Given the description of an element on the screen output the (x, y) to click on. 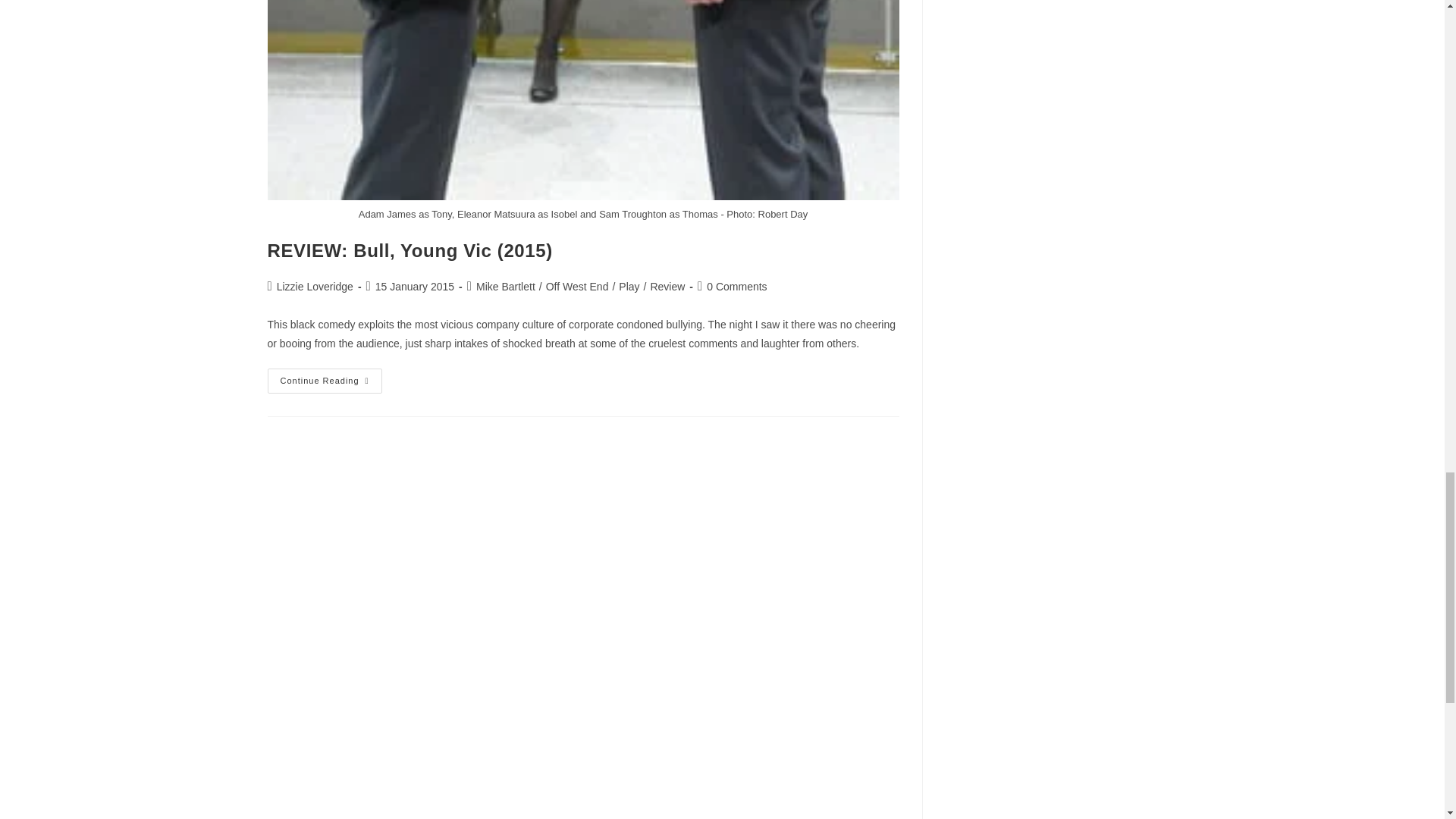
Play (628, 286)
Review (666, 286)
Posts by Lizzie Loveridge (314, 286)
0 Comments (736, 286)
Off West End (577, 286)
Lizzie Loveridge (314, 286)
Continue Reading (323, 380)
Mike Bartlett (505, 286)
